Given the description of an element on the screen output the (x, y) to click on. 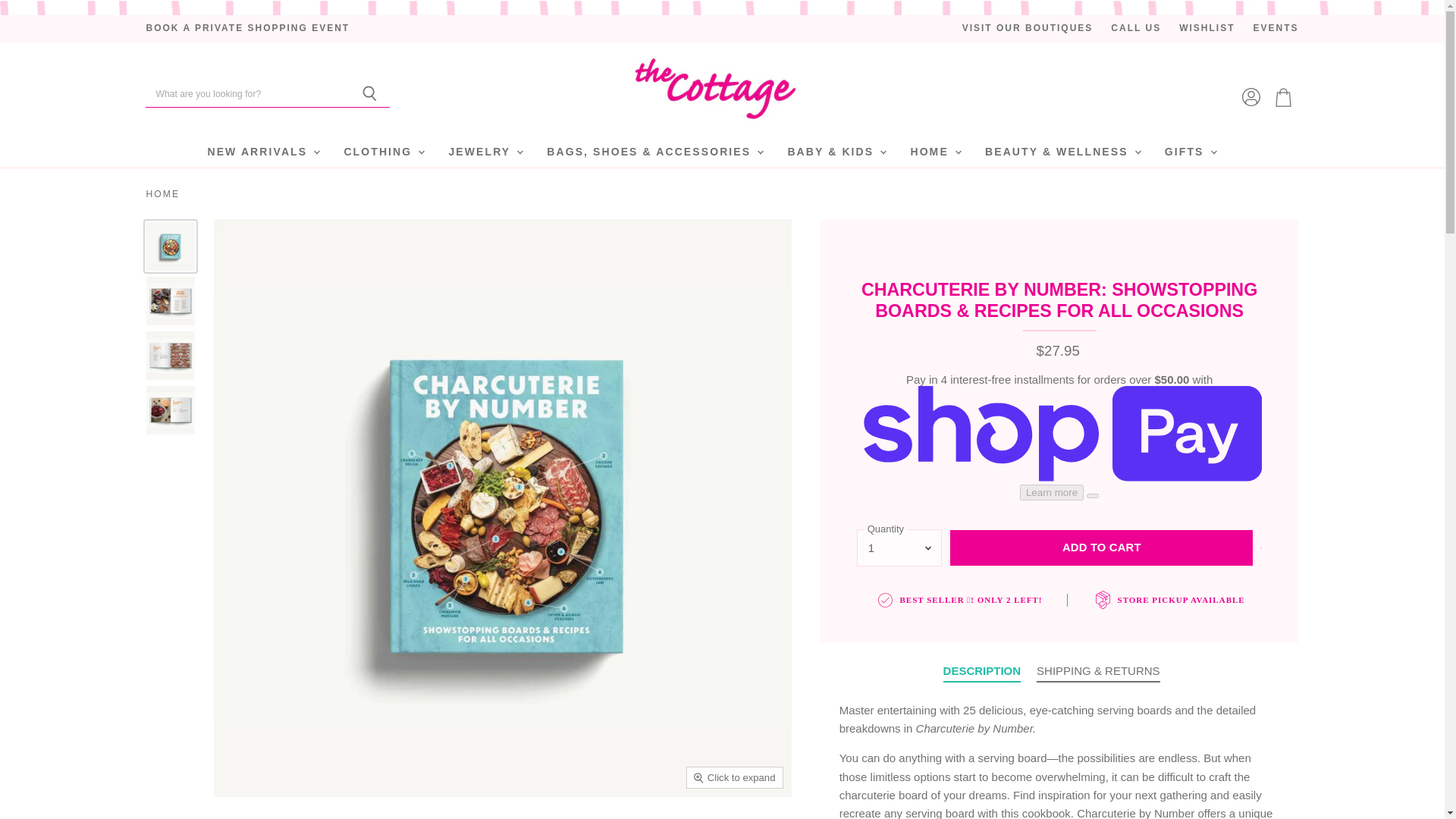
CALL US (1135, 28)
EVENTS (1275, 28)
NEW ARRIVALS (262, 151)
CLOTHING (382, 151)
WISHLIST (1206, 28)
BOOK A PRIVATE SHOPPING EVENT (247, 28)
View cart (1283, 97)
VISIT OUR BOUTIQUES (1027, 28)
View account (1251, 97)
